Given the description of an element on the screen output the (x, y) to click on. 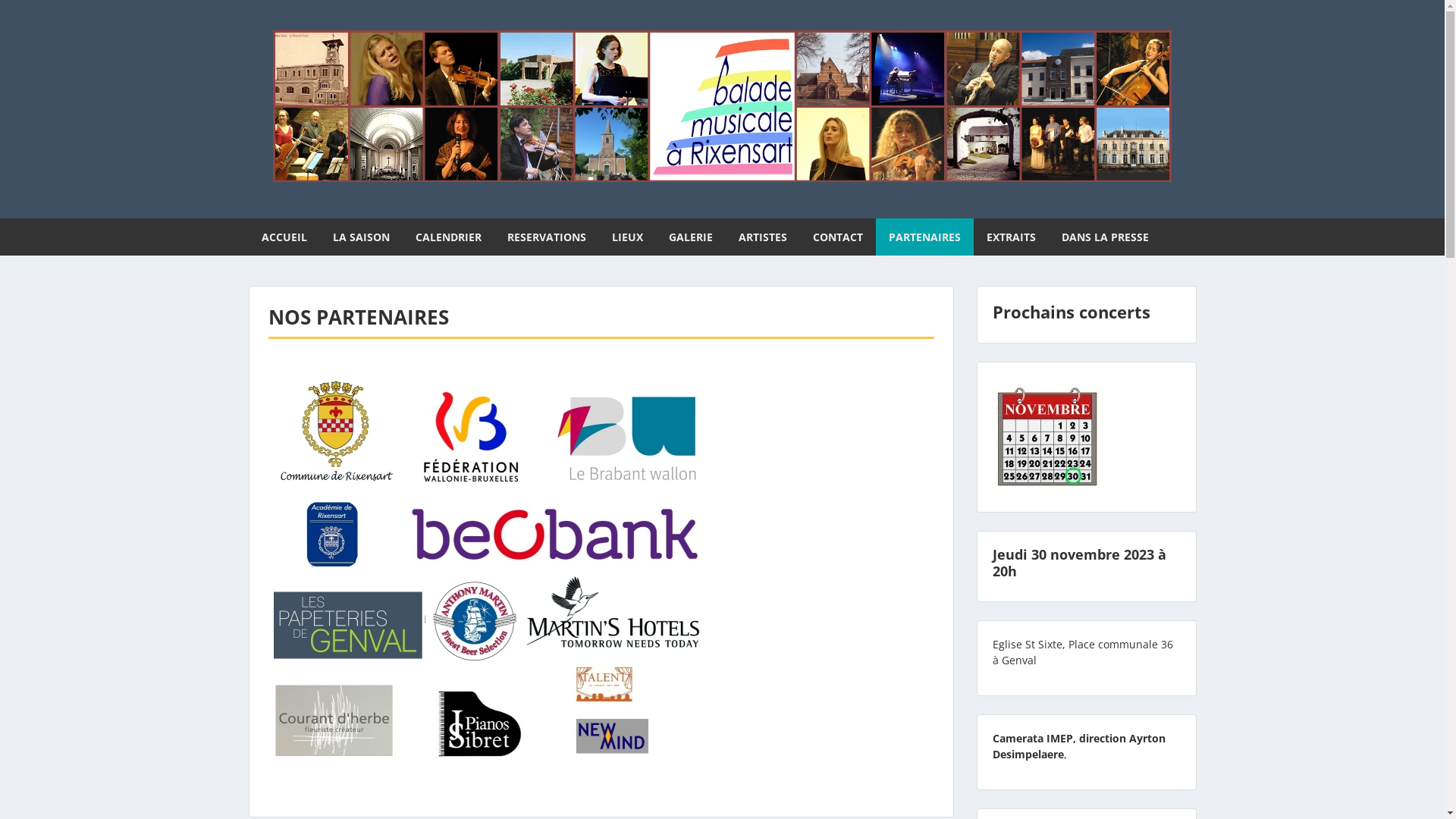
GALERIE Element type: text (689, 236)
DANS LA PRESSE Element type: text (1104, 236)
CONTACT Element type: text (837, 236)
PARTENAIRES Element type: text (923, 236)
RESERVATIONS Element type: text (546, 236)
ARTISTES Element type: text (761, 236)
LIEUX Element type: text (627, 236)
ACCUEIL Element type: text (284, 236)
LA SAISON Element type: text (361, 236)
EXTRAITS Element type: text (1010, 236)
CALENDRIER Element type: text (447, 236)
